Given the description of an element on the screen output the (x, y) to click on. 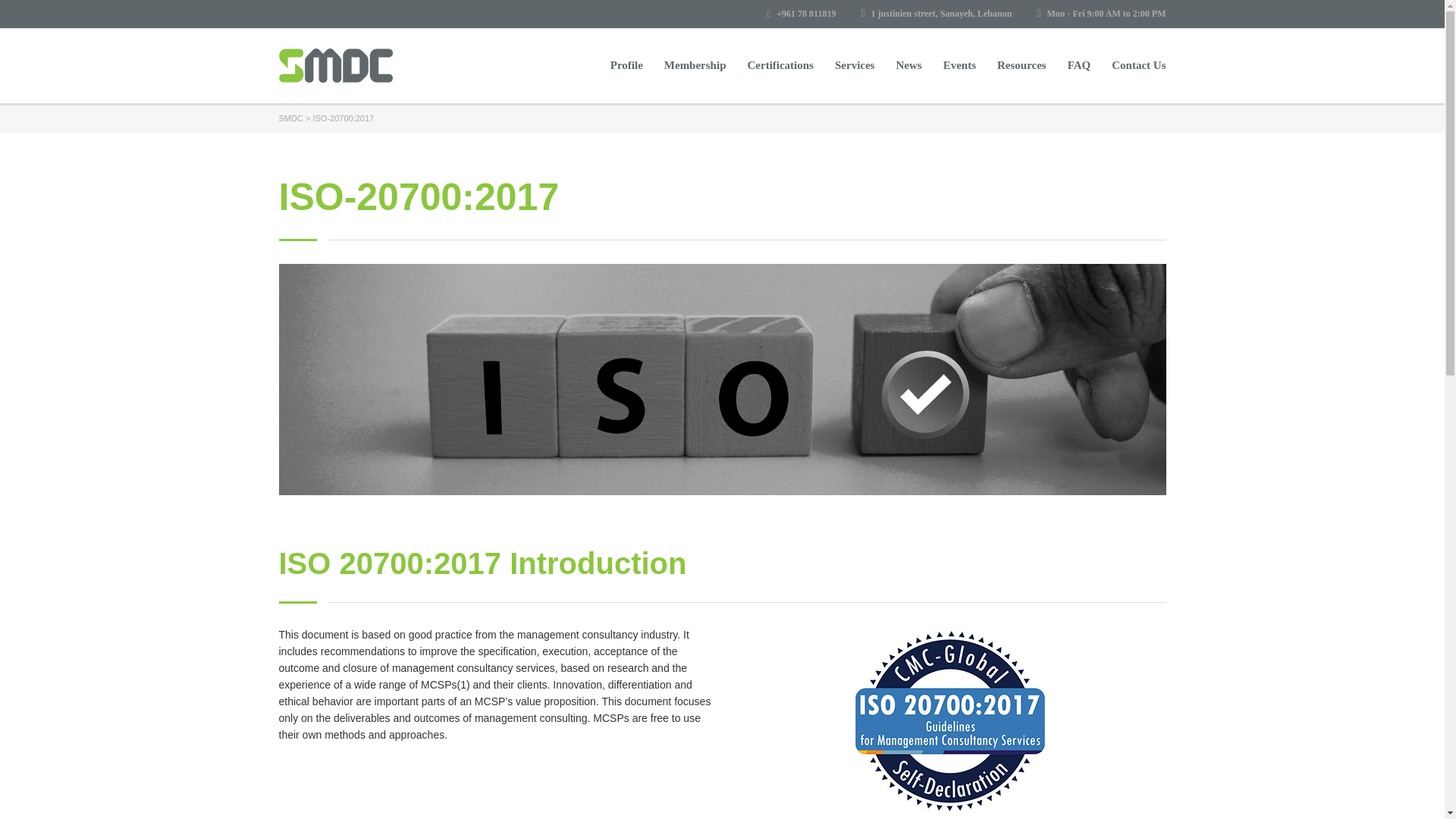
iso-small (950, 720)
Certifications (779, 64)
Profile (626, 64)
Membership (694, 64)
Go to SMDC. (290, 117)
